Given the description of an element on the screen output the (x, y) to click on. 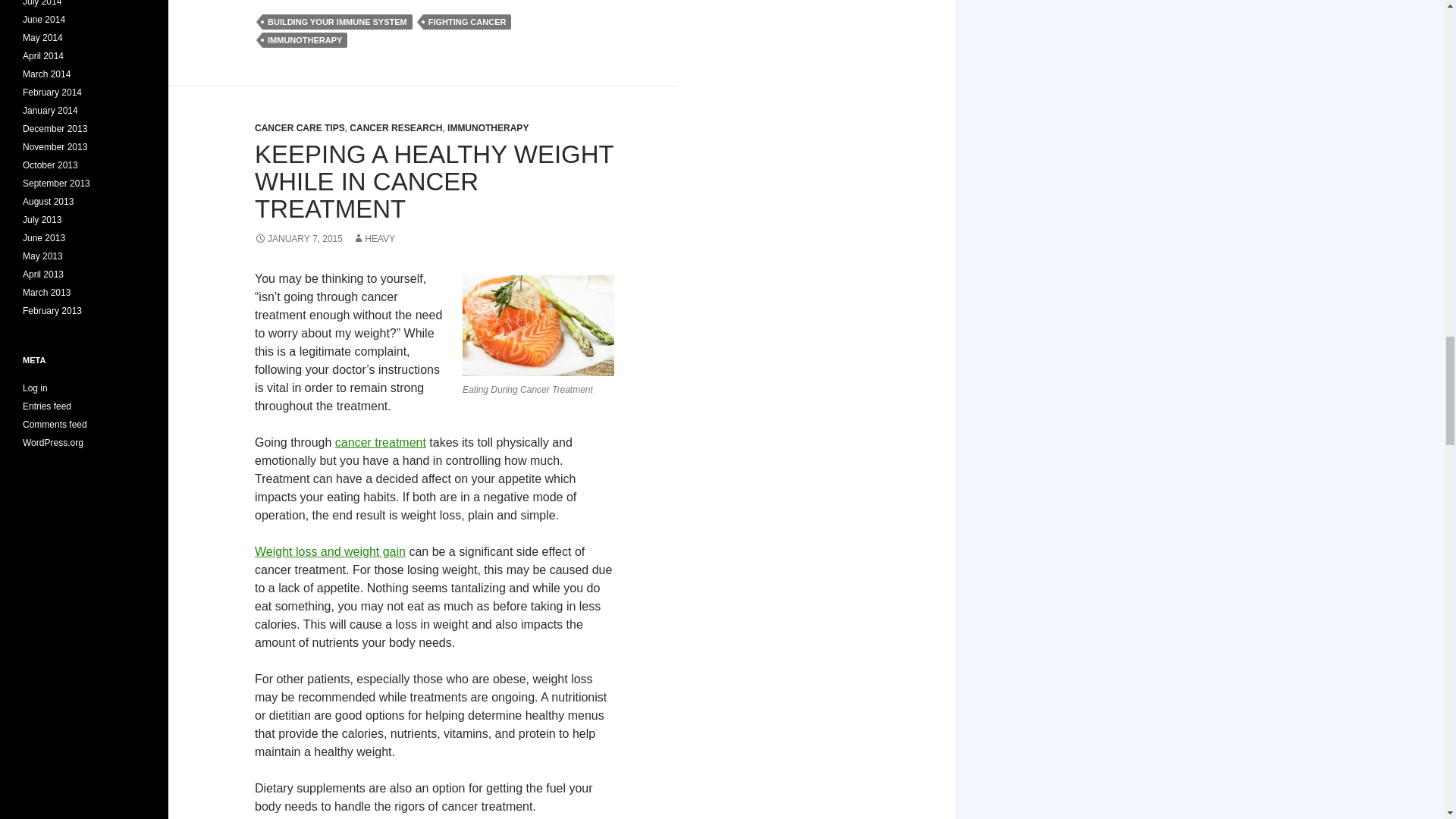
IMMUNOTHERAPY (304, 39)
FIGHTING CANCER (467, 21)
BUILDING YOUR IMMUNE SYSTEM (337, 21)
CANCER CARE TIPS (299, 127)
